Given the description of an element on the screen output the (x, y) to click on. 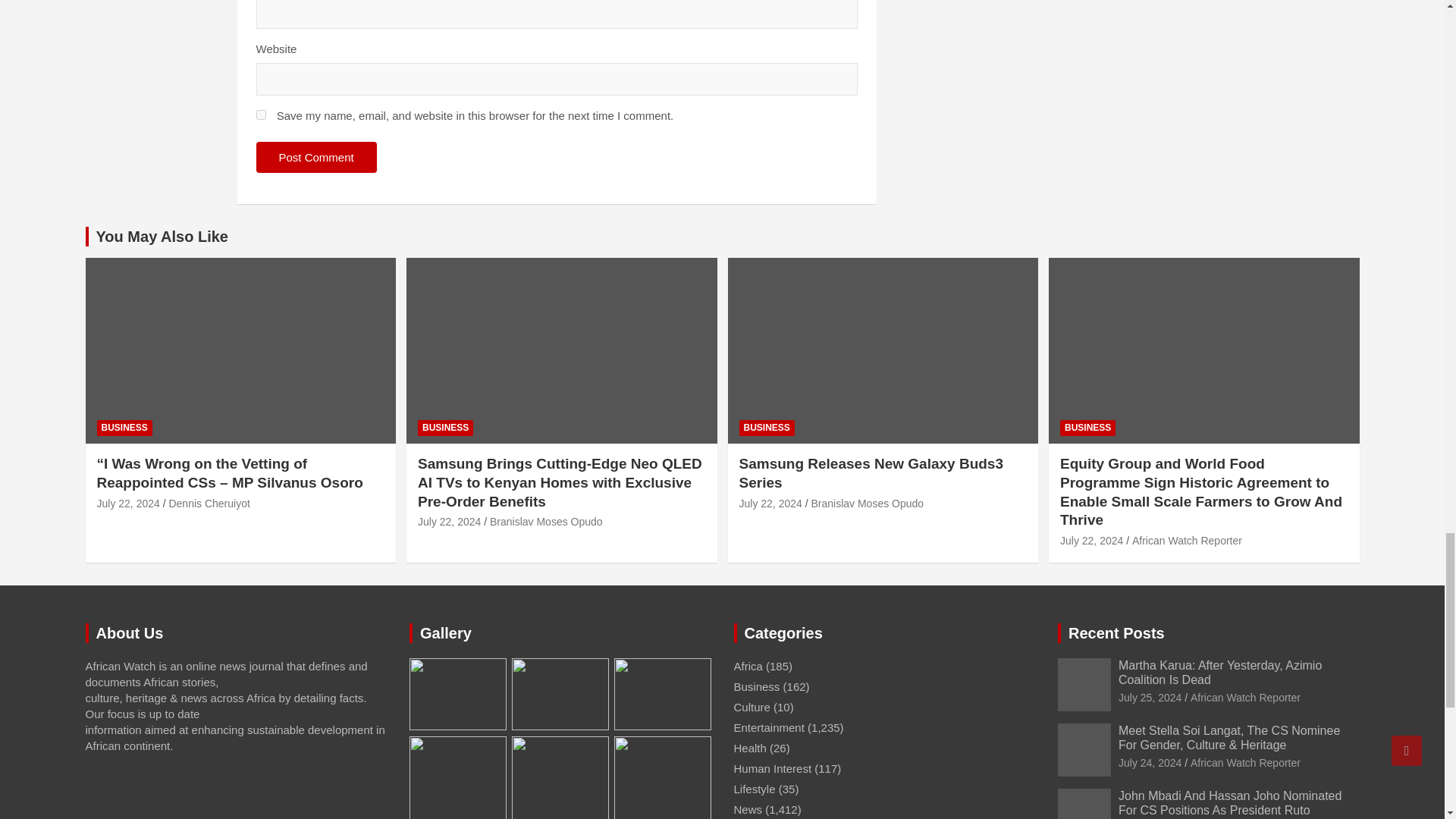
yes (261, 114)
Post Comment (316, 156)
Post Comment (316, 156)
